Given the description of an element on the screen output the (x, y) to click on. 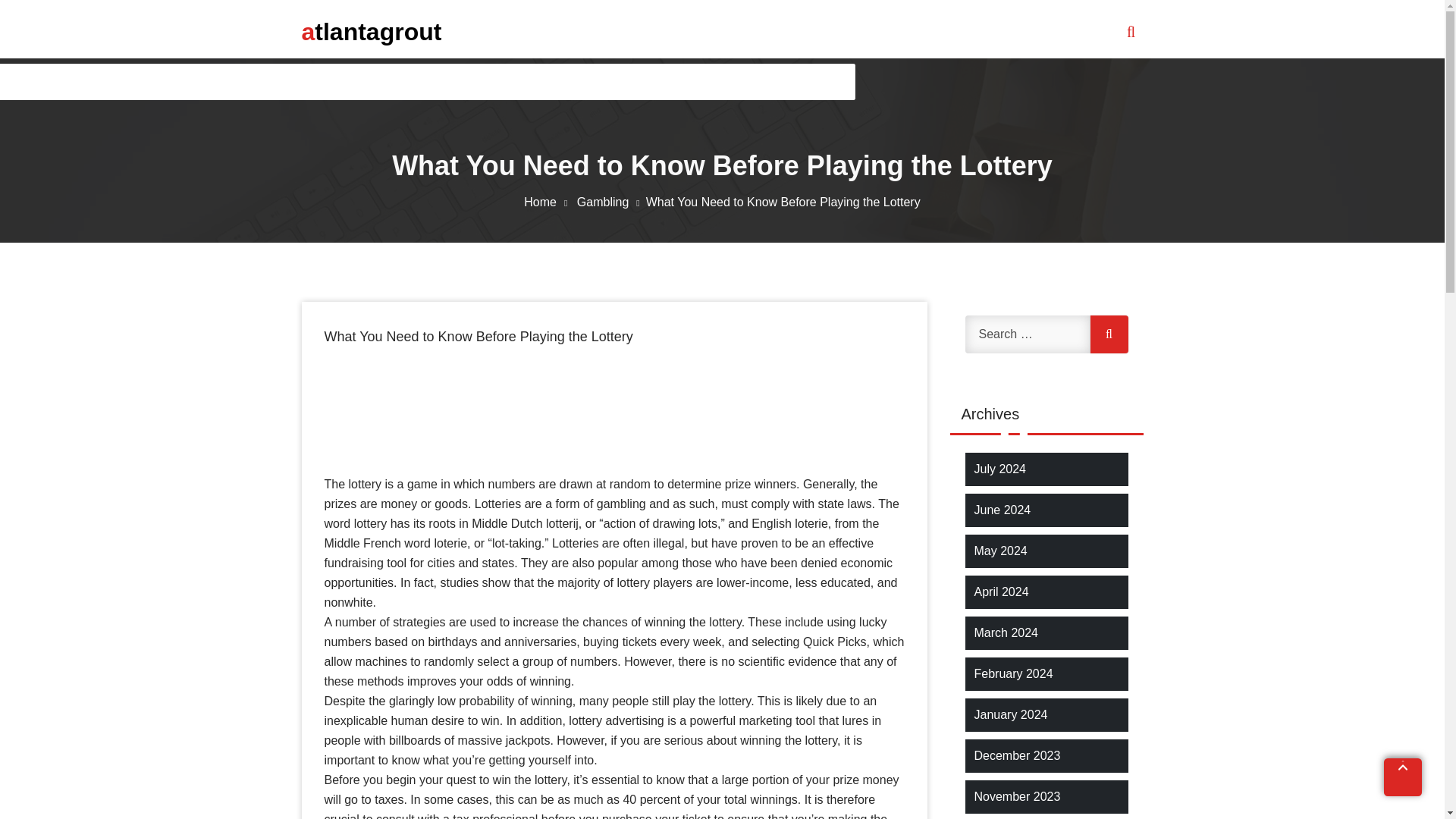
December 2023 (1016, 755)
November 2023 (1016, 796)
February 2024 (1013, 674)
June 2024 (1002, 510)
July 2024 (1000, 469)
Gambling (611, 201)
April 2024 (1000, 592)
January 2024 (1010, 714)
atlantagrout (371, 31)
Home (548, 201)
March 2024 (1006, 633)
May 2024 (1000, 551)
